Given the description of an element on the screen output the (x, y) to click on. 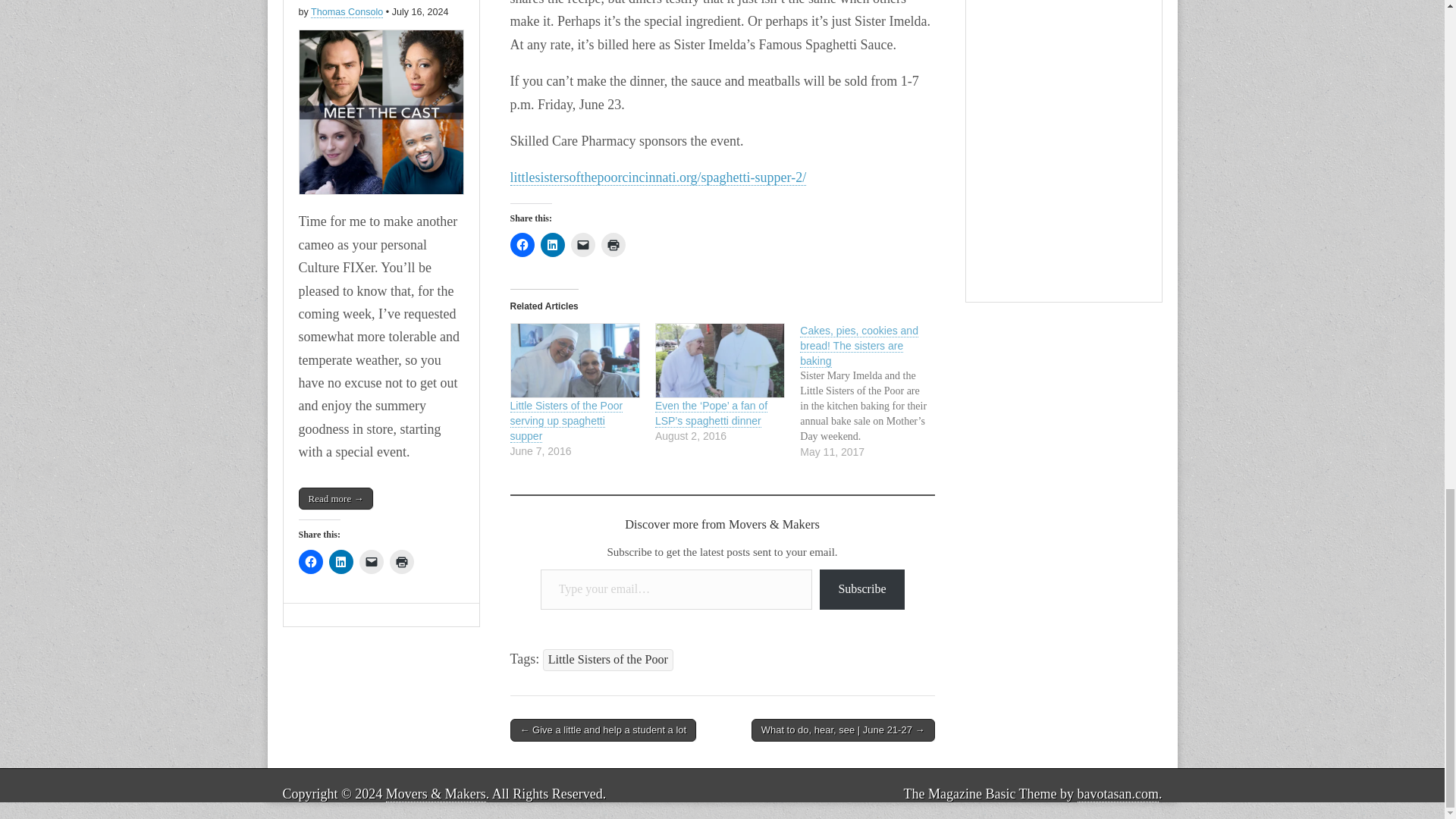
Cakes, pies, cookies and bread! The sisters are baking (871, 390)
Click to print (611, 244)
Little Sisters of the Poor serving up spaghetti supper (574, 360)
Little Sisters of the Poor serving up spaghetti supper (566, 421)
Click to share on Facebook (521, 244)
Click to share on LinkedIn (552, 244)
Click to email a link to a friend (582, 244)
